Given the description of an element on the screen output the (x, y) to click on. 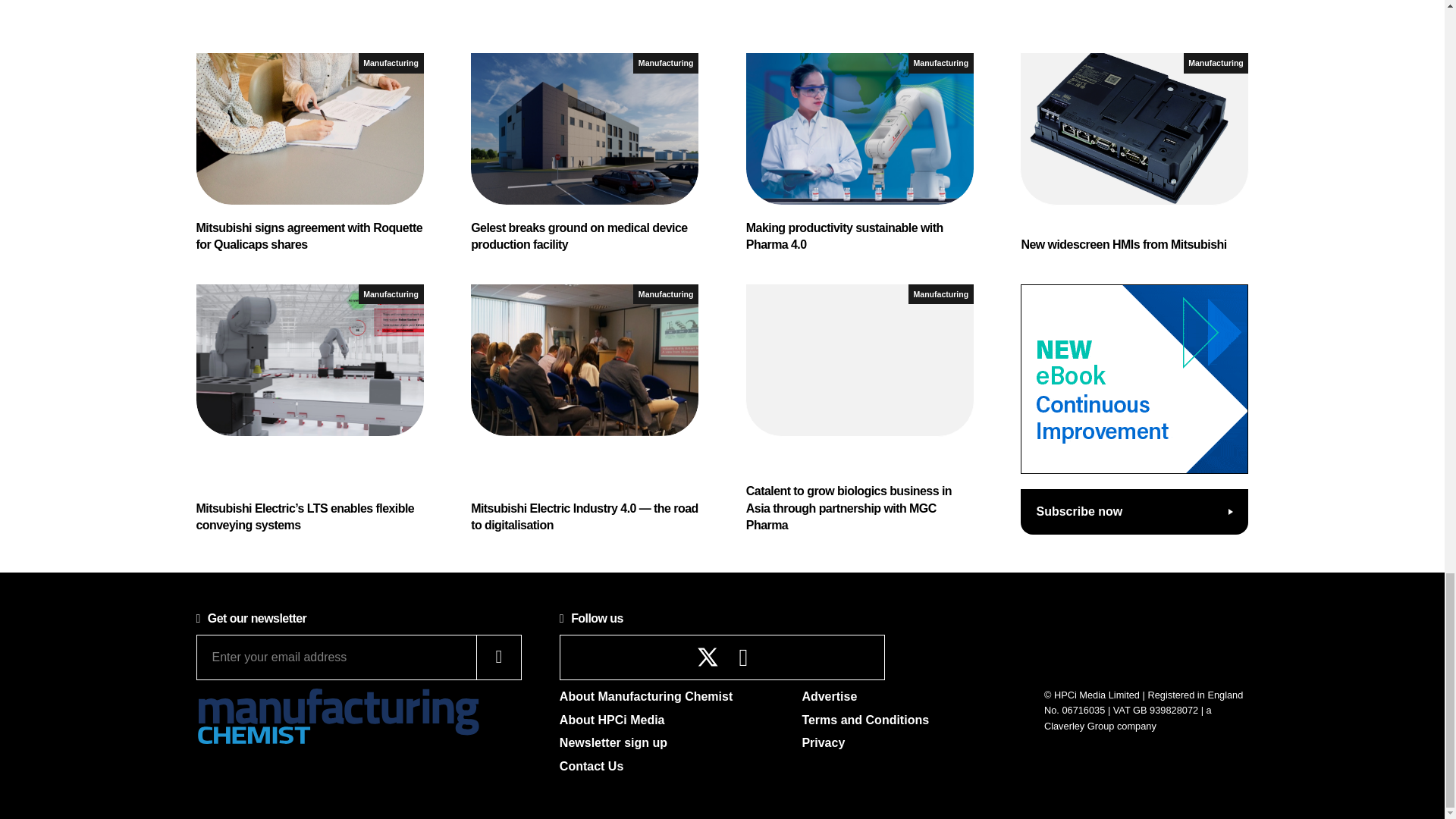
Gelest breaks ground on medical device production facility (584, 153)
Follow Manufacturing Chemist on X (708, 657)
Manufacturing (665, 63)
Manufacturing (390, 63)
